Given the description of an element on the screen output the (x, y) to click on. 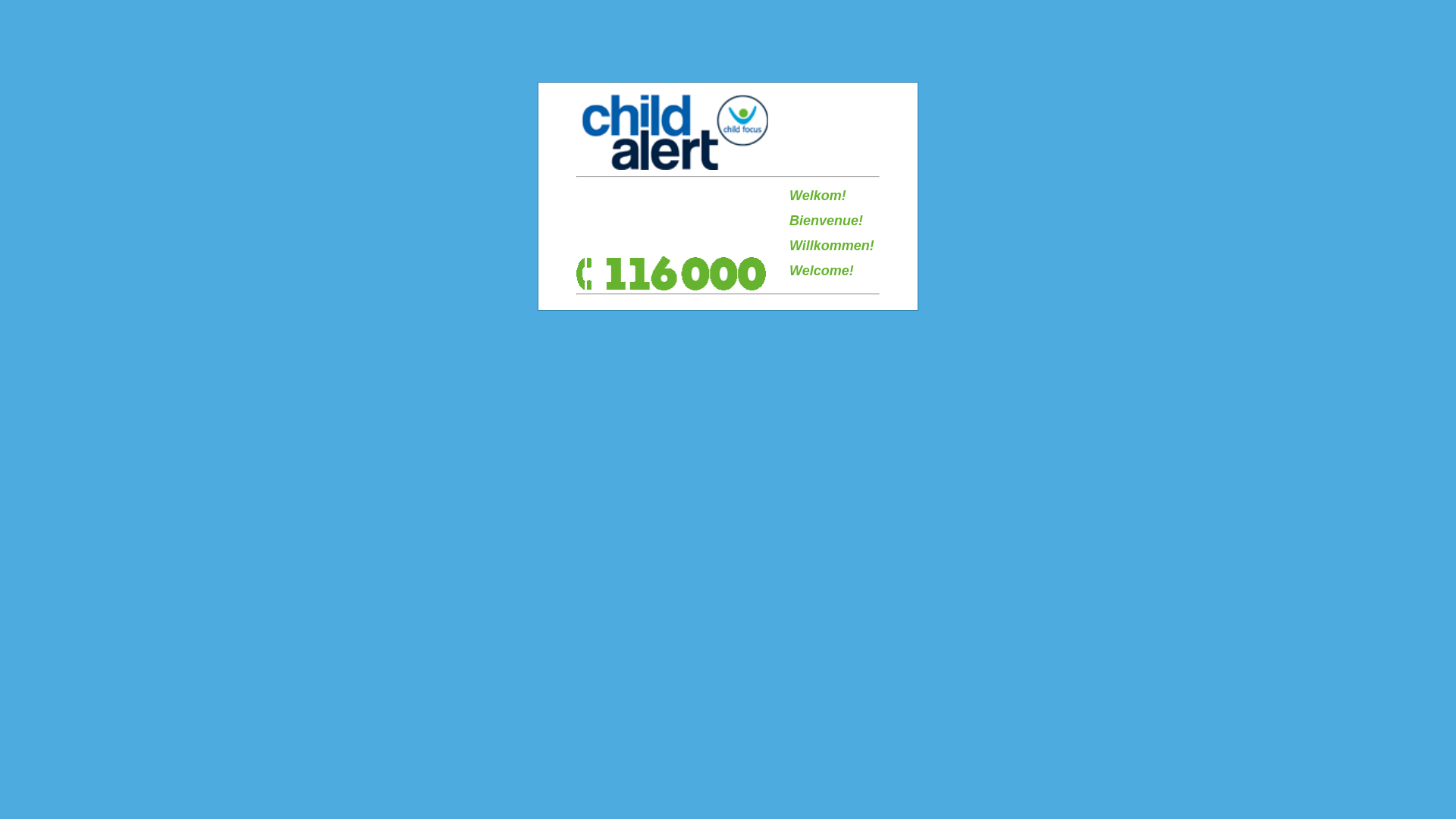
Bienvenue! Element type: text (825, 220)
Welkom! Element type: text (817, 195)
Welcome! Element type: text (821, 270)
Willkommen! Element type: text (831, 245)
